Given the description of an element on the screen output the (x, y) to click on. 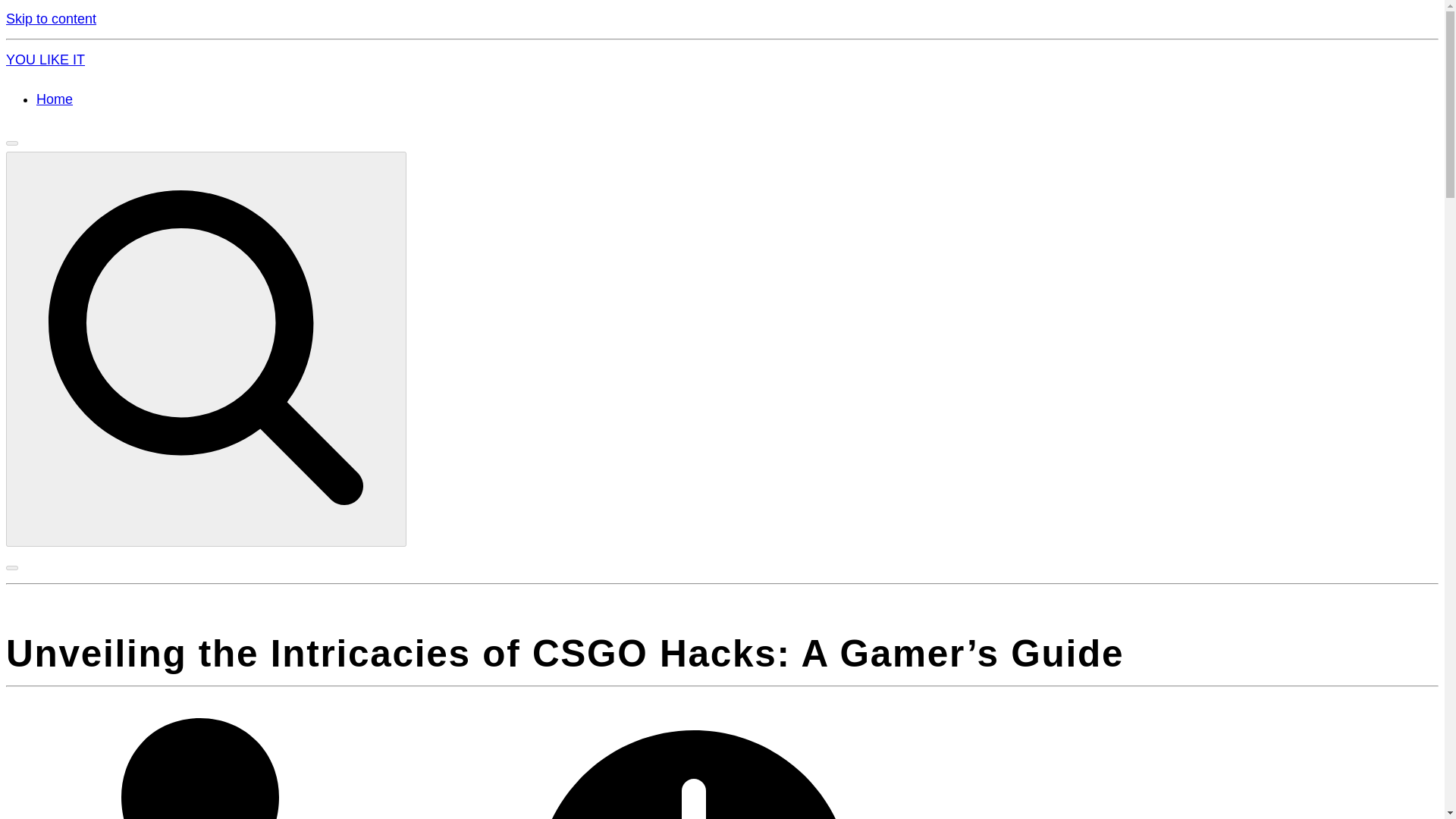
YOU LIKE IT (44, 59)
Skip to content (50, 18)
Home (54, 99)
